Given the description of an element on the screen output the (x, y) to click on. 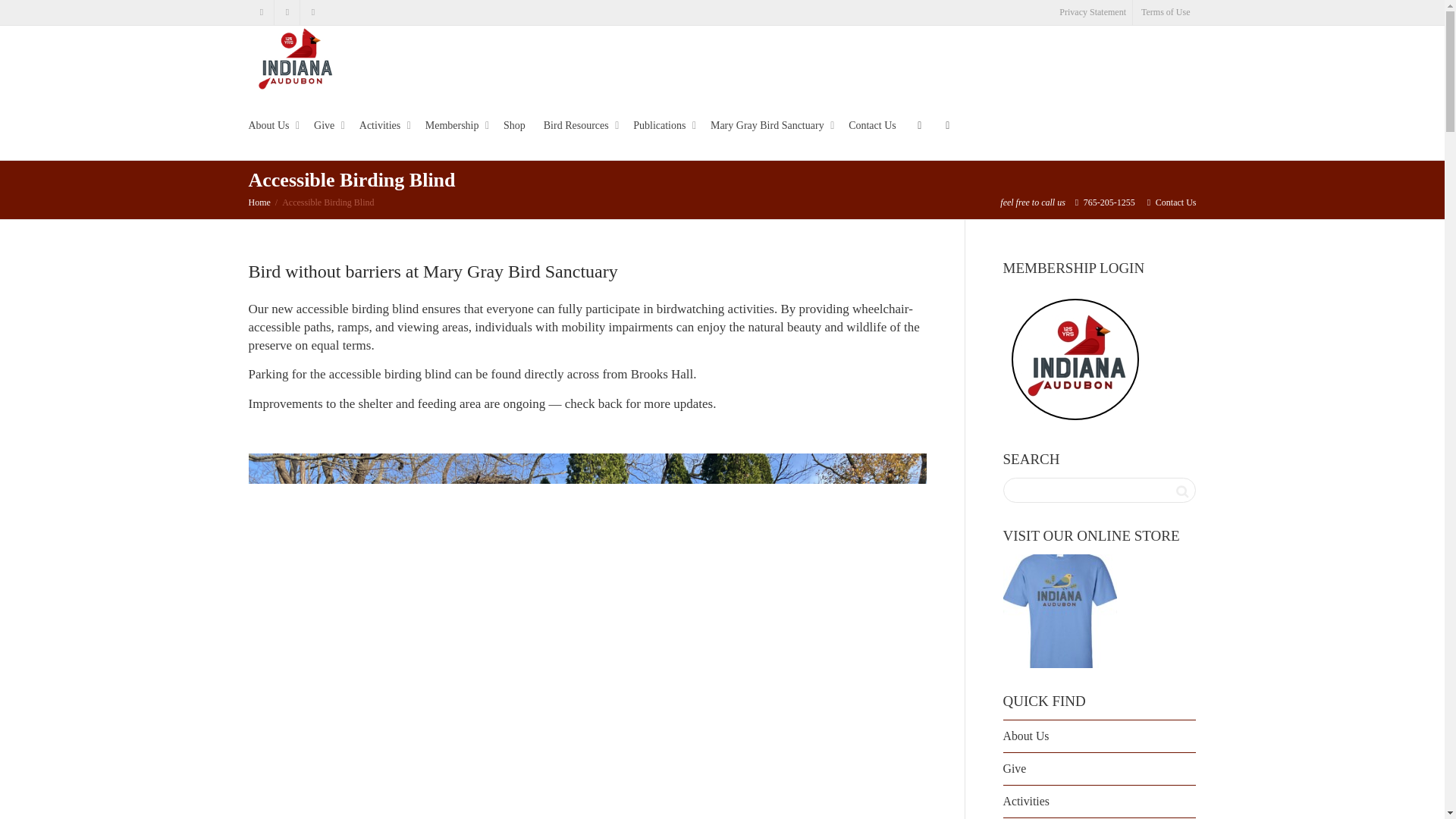
Privacy Statement (1092, 12)
Bird Resources (578, 125)
Indiana Audubon  (294, 58)
Terms of Use (1165, 12)
Search (1181, 491)
Terms of Use (1165, 12)
Privacy Statement (1092, 12)
Search (1181, 491)
Membership (454, 125)
